Given the description of an element on the screen output the (x, y) to click on. 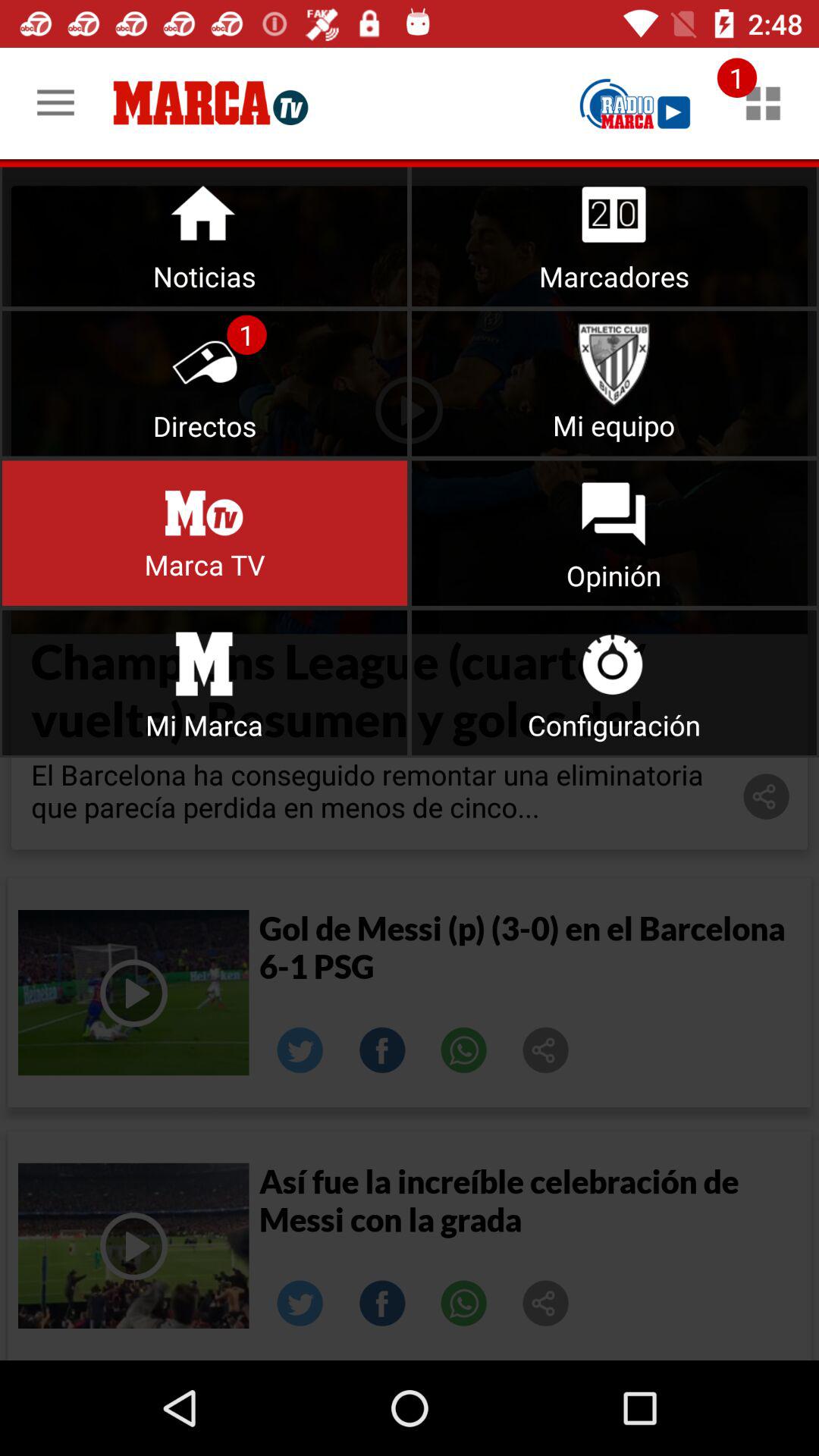
whatsapp (464, 1303)
